Given the description of an element on the screen output the (x, y) to click on. 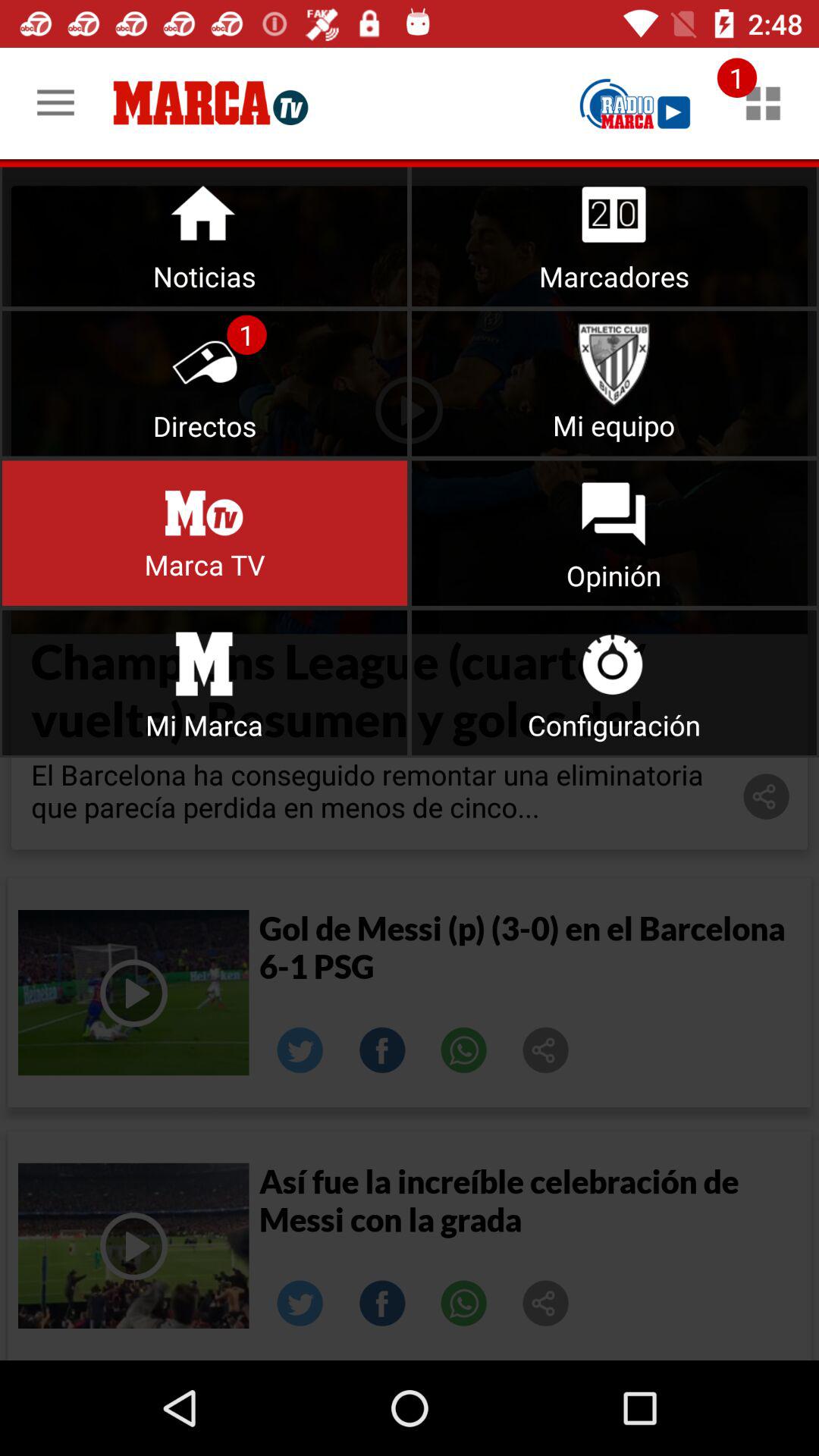
whatsapp (464, 1303)
